Given the description of an element on the screen output the (x, y) to click on. 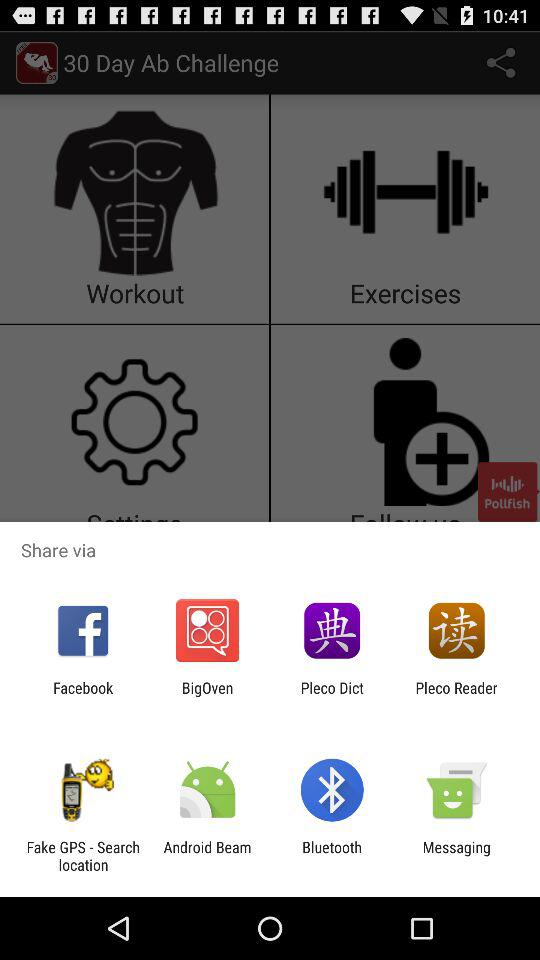
scroll until bluetooth icon (331, 856)
